Given the description of an element on the screen output the (x, y) to click on. 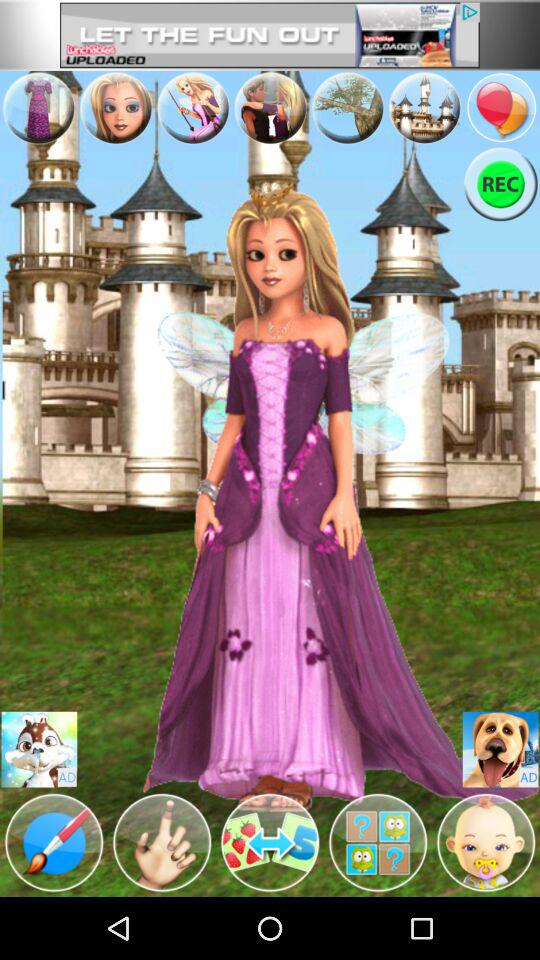
opens a character modification section on the app (162, 843)
